Given the description of an element on the screen output the (x, y) to click on. 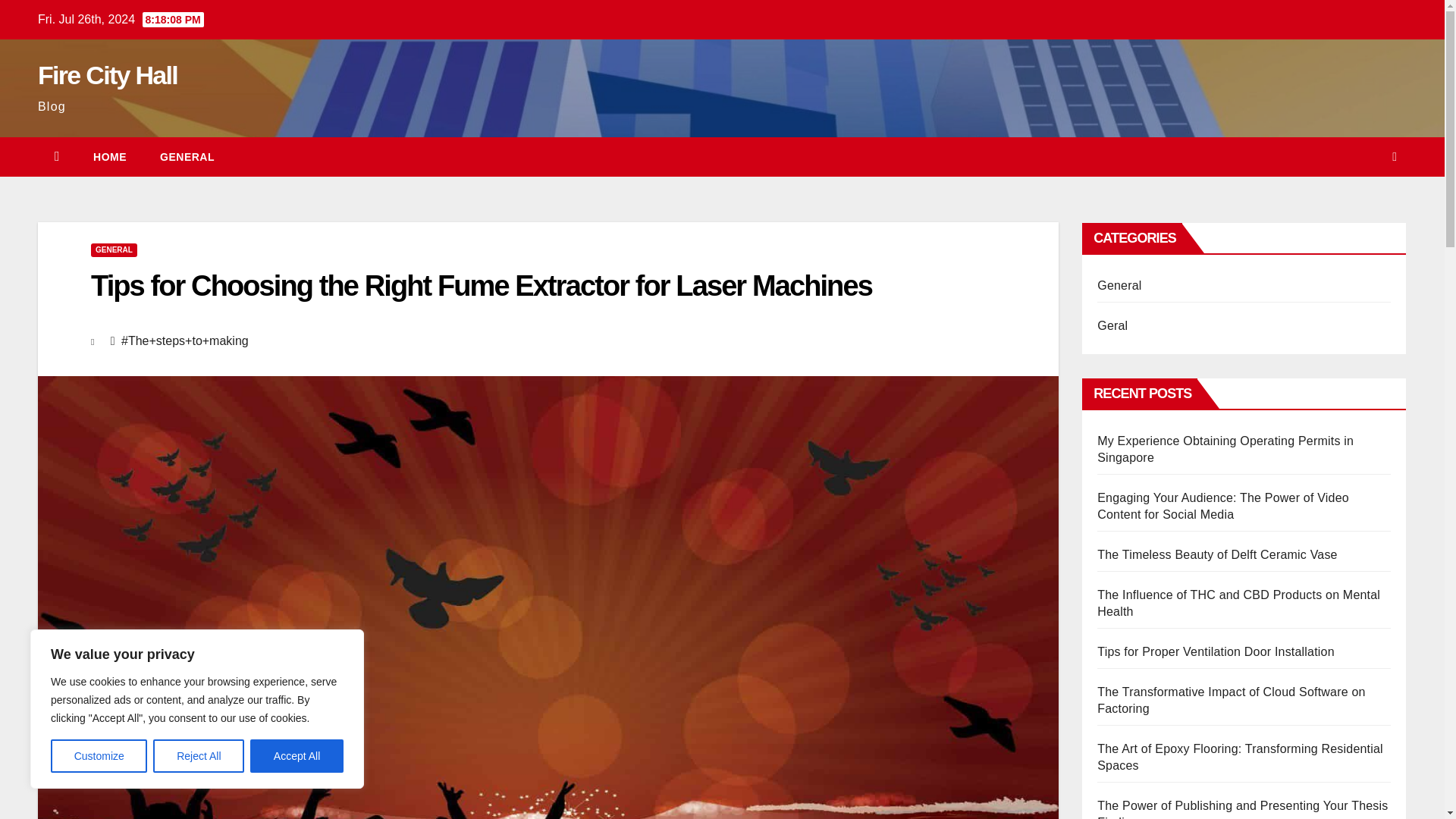
GENERAL (186, 156)
HOME (109, 156)
Fire City Hall (107, 74)
GENERAL (113, 250)
Home (109, 156)
Accept All (296, 756)
General (186, 156)
Customize (98, 756)
Reject All (198, 756)
